Given the description of an element on the screen output the (x, y) to click on. 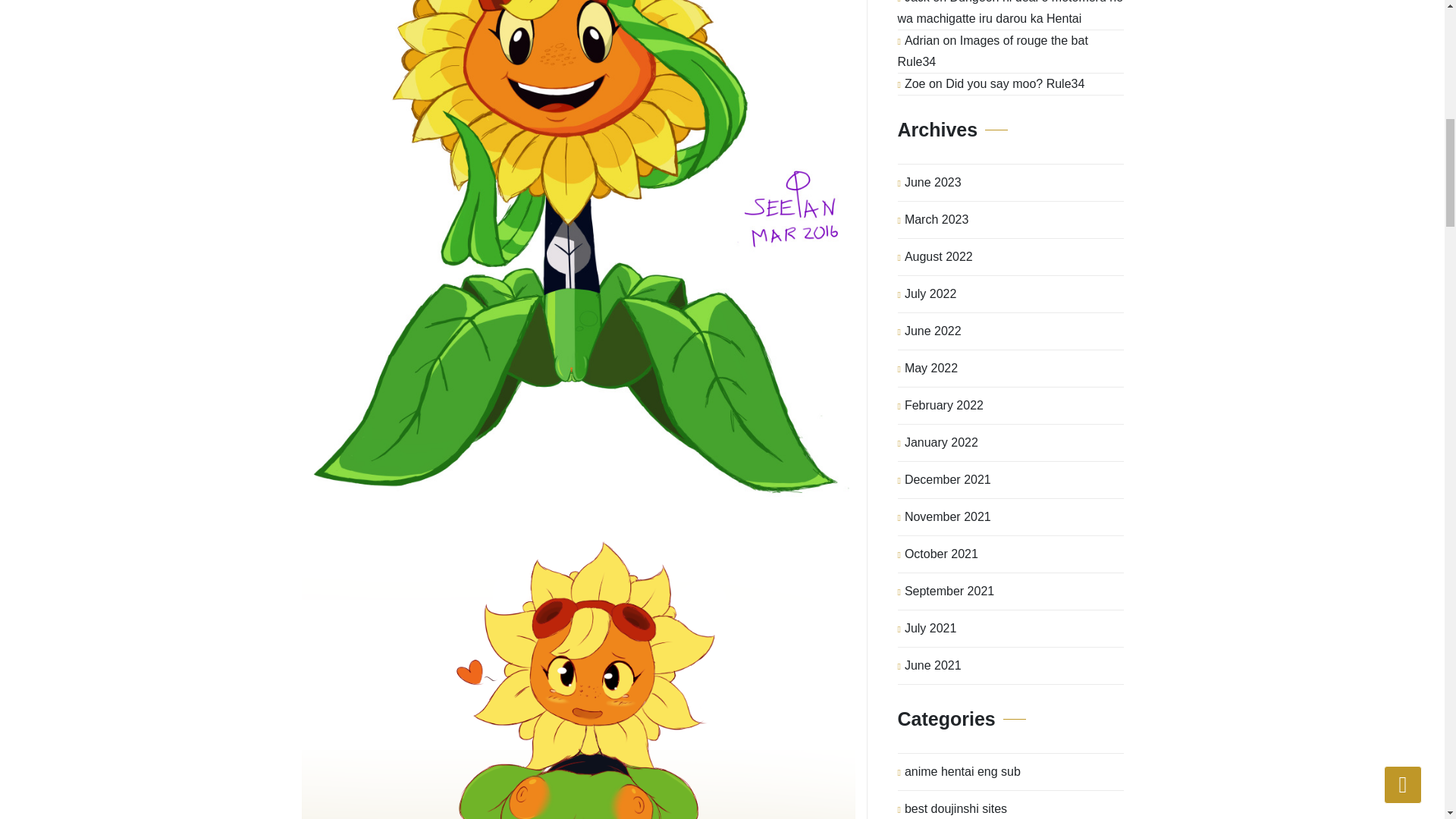
best doujinshi sites (955, 805)
March 2023 (936, 219)
June 2021 (932, 665)
September 2021 (949, 591)
Did you say moo? Rule34 (1014, 83)
June 2022 (932, 330)
May 2022 (931, 368)
December 2021 (947, 479)
November 2021 (947, 516)
Images of rouge the bat Rule34 (992, 50)
October 2021 (941, 554)
anime hentai eng sub (962, 771)
January 2022 (941, 443)
July 2022 (930, 294)
